Given the description of an element on the screen output the (x, y) to click on. 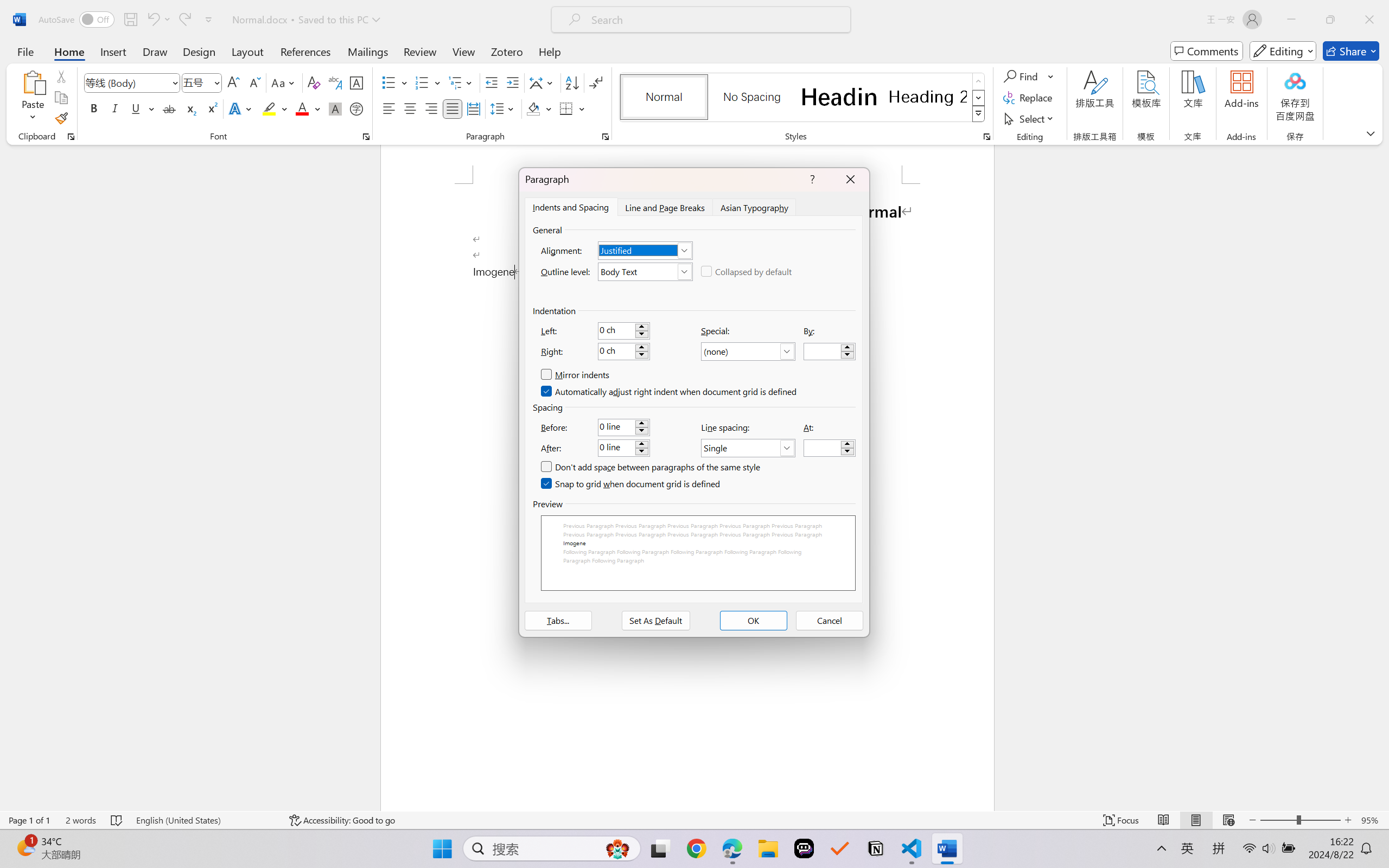
Activate (459, 47)
Close this message (1379, 47)
